Given the description of an element on the screen output the (x, y) to click on. 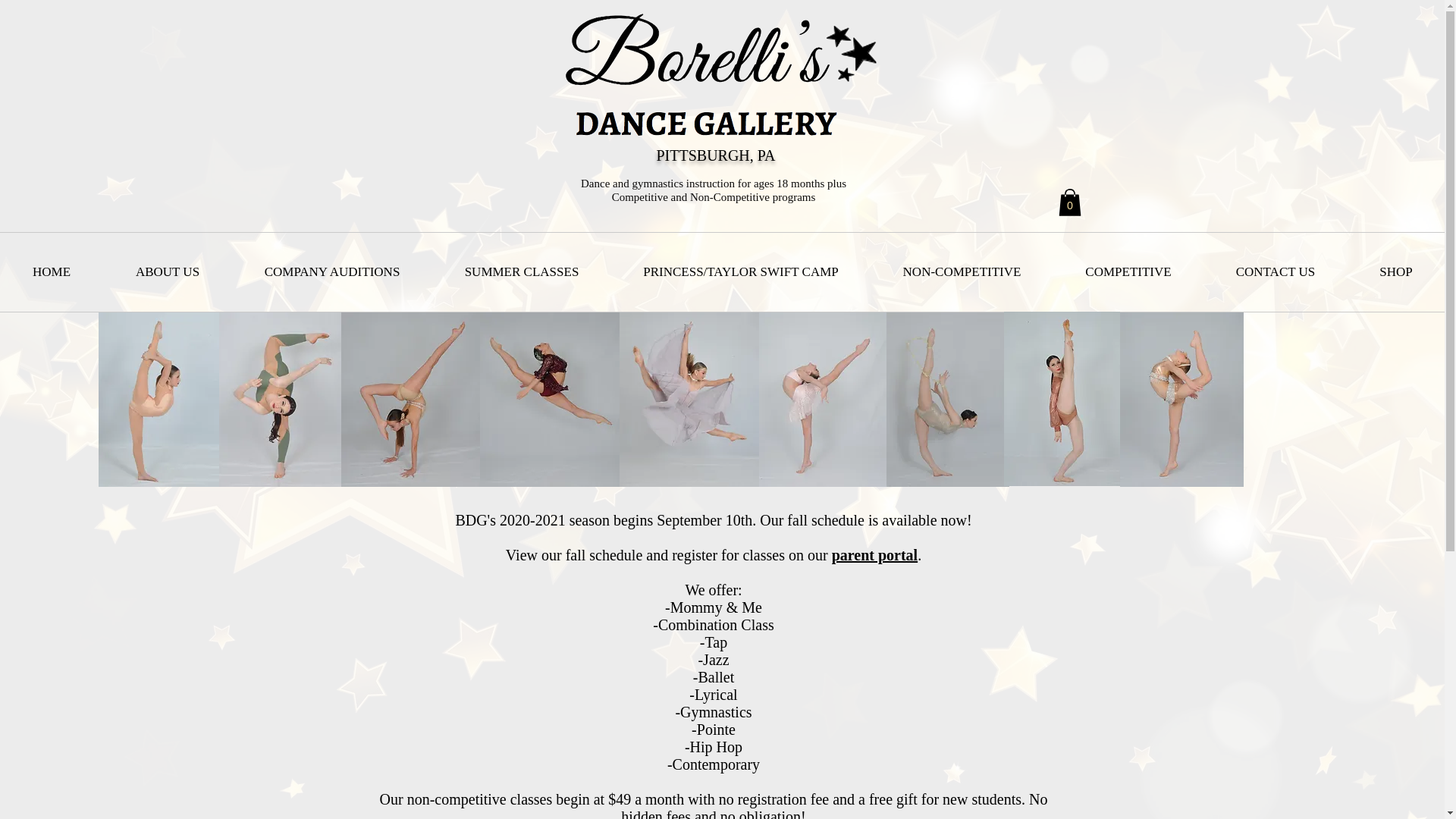
HOME (51, 272)
CONTACT US (1276, 272)
parent portal (874, 555)
COMPETITIVE (1128, 272)
COMPANY AUDITIONS (331, 272)
NON-COMPETITIVE (961, 272)
ABOUT US (167, 272)
SUMMER CLASSES (521, 272)
